Given the description of an element on the screen output the (x, y) to click on. 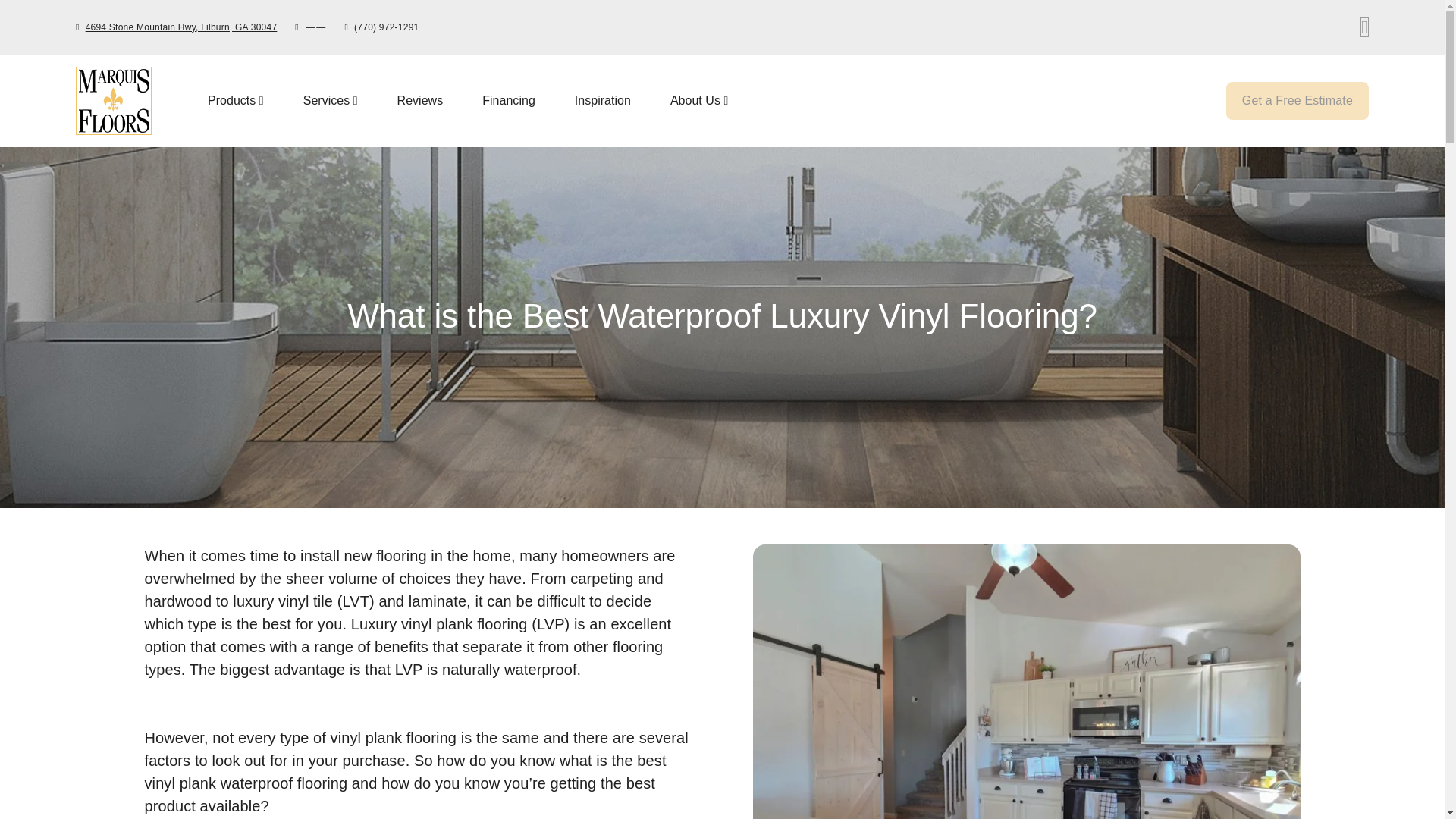
Products (688, 100)
4694 Stone Mountain Hwy, Lilburn, GA 30047 (235, 100)
